Given the description of an element on the screen output the (x, y) to click on. 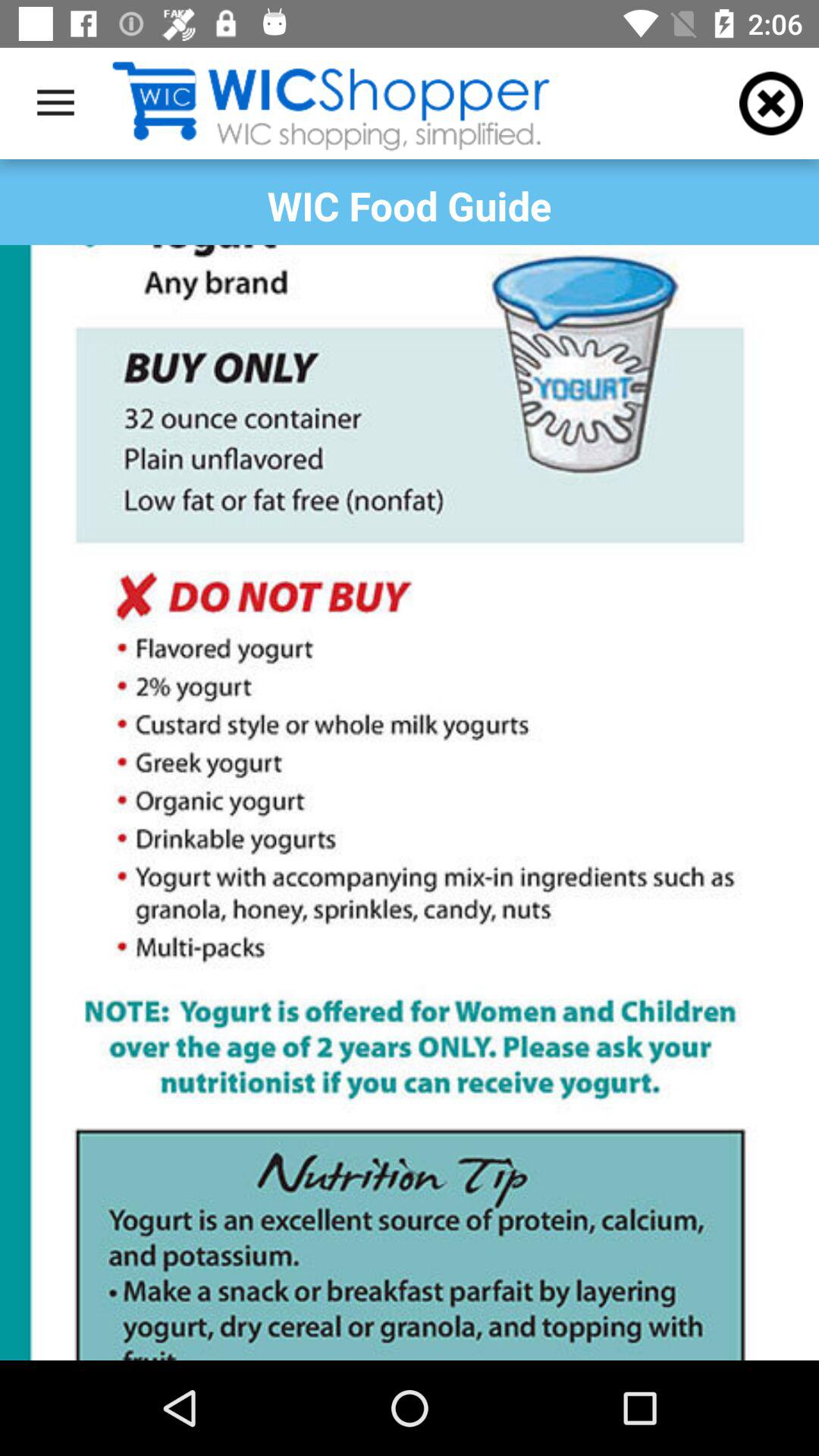
view content (409, 802)
